Given the description of an element on the screen output the (x, y) to click on. 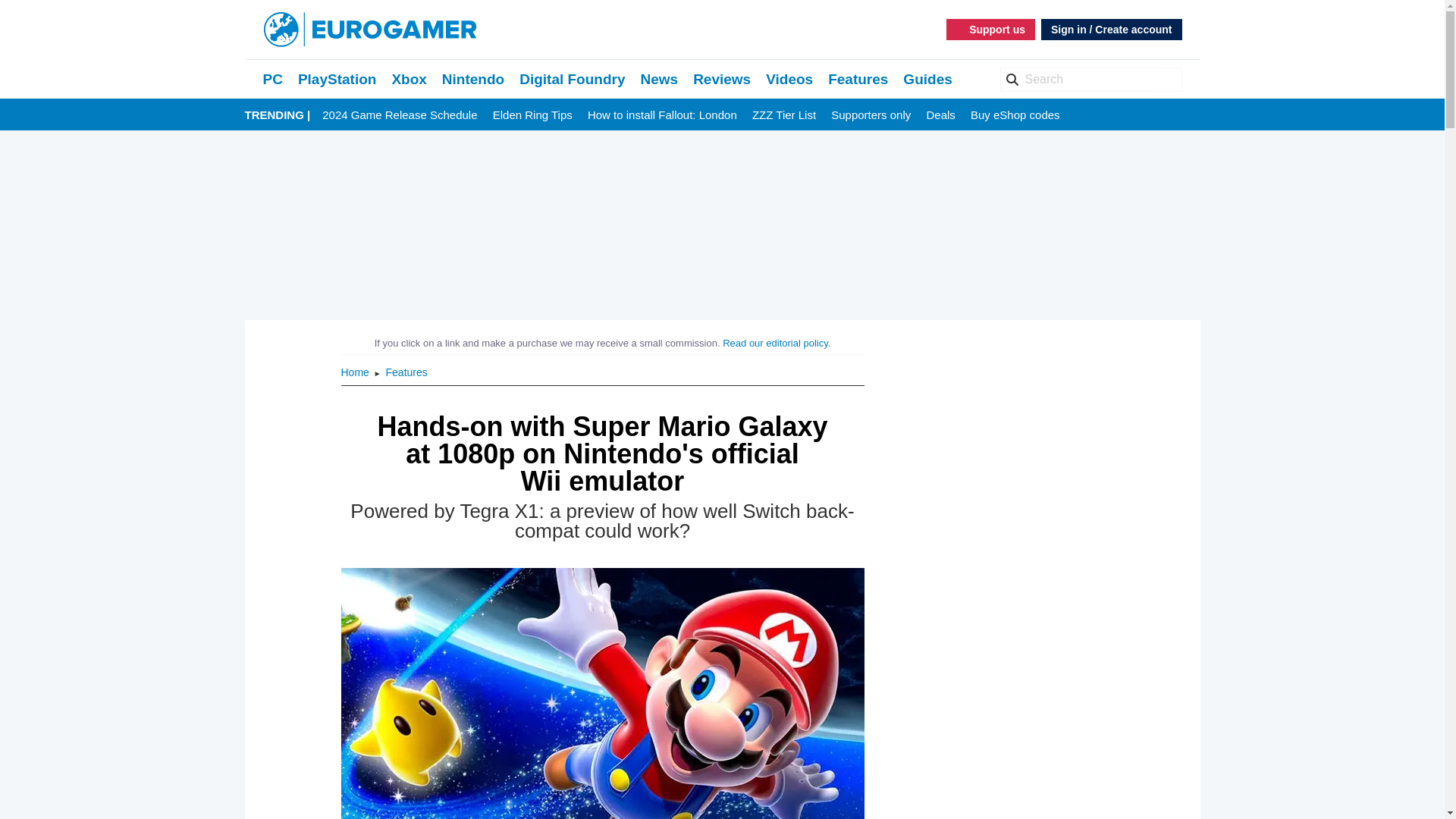
Deals (940, 114)
Buy eShop codes (1015, 114)
Digital Foundry (571, 78)
Support us (990, 29)
Reviews (722, 78)
Features (858, 78)
Xbox (408, 78)
Supporters only (871, 114)
Reviews (722, 78)
Read our editorial policy (775, 342)
Guides (927, 78)
Features (406, 372)
Supporters only (871, 114)
Videos (788, 78)
Digital Foundry (571, 78)
